Given the description of an element on the screen output the (x, y) to click on. 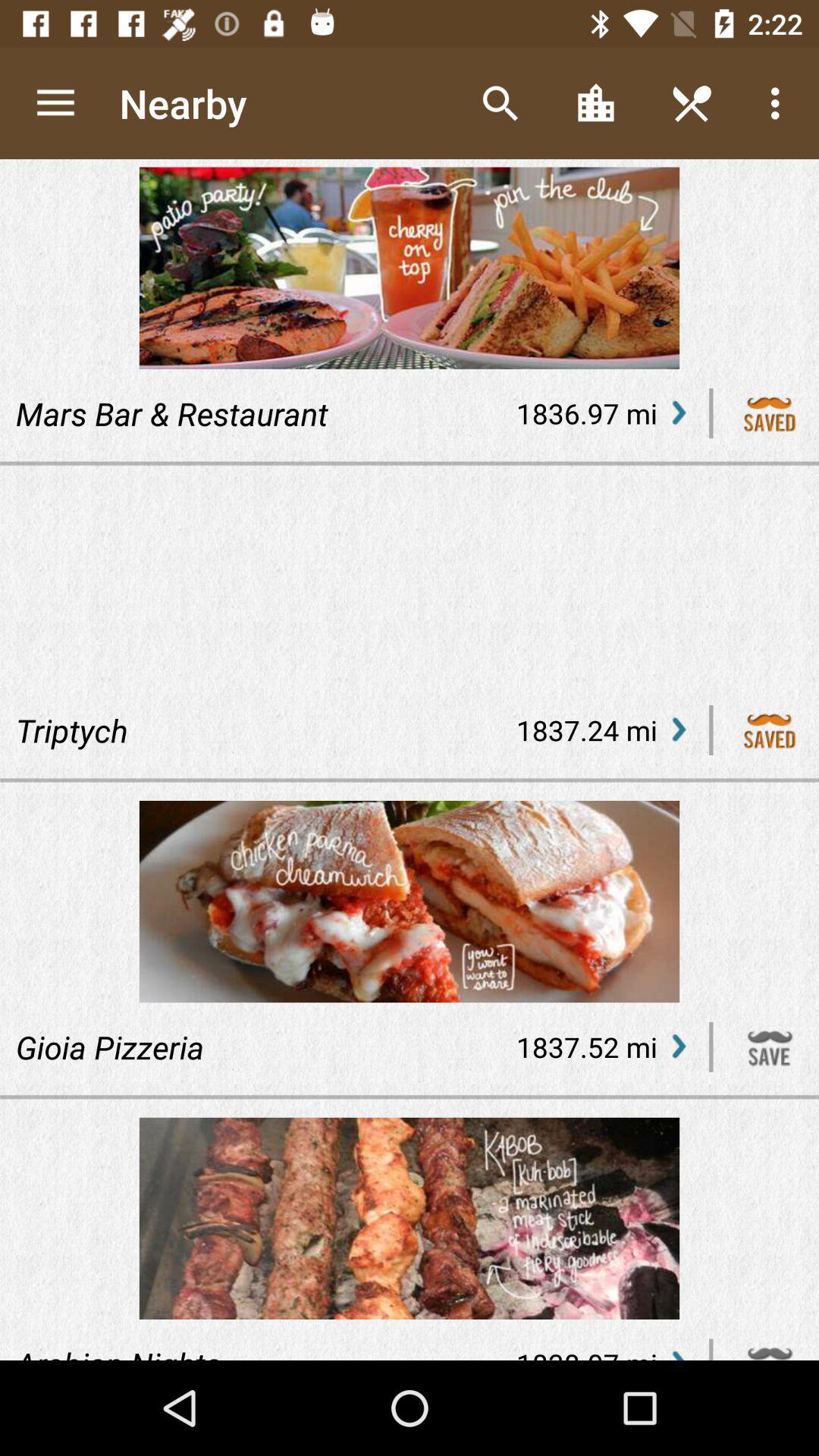
save (770, 1046)
